Given the description of an element on the screen output the (x, y) to click on. 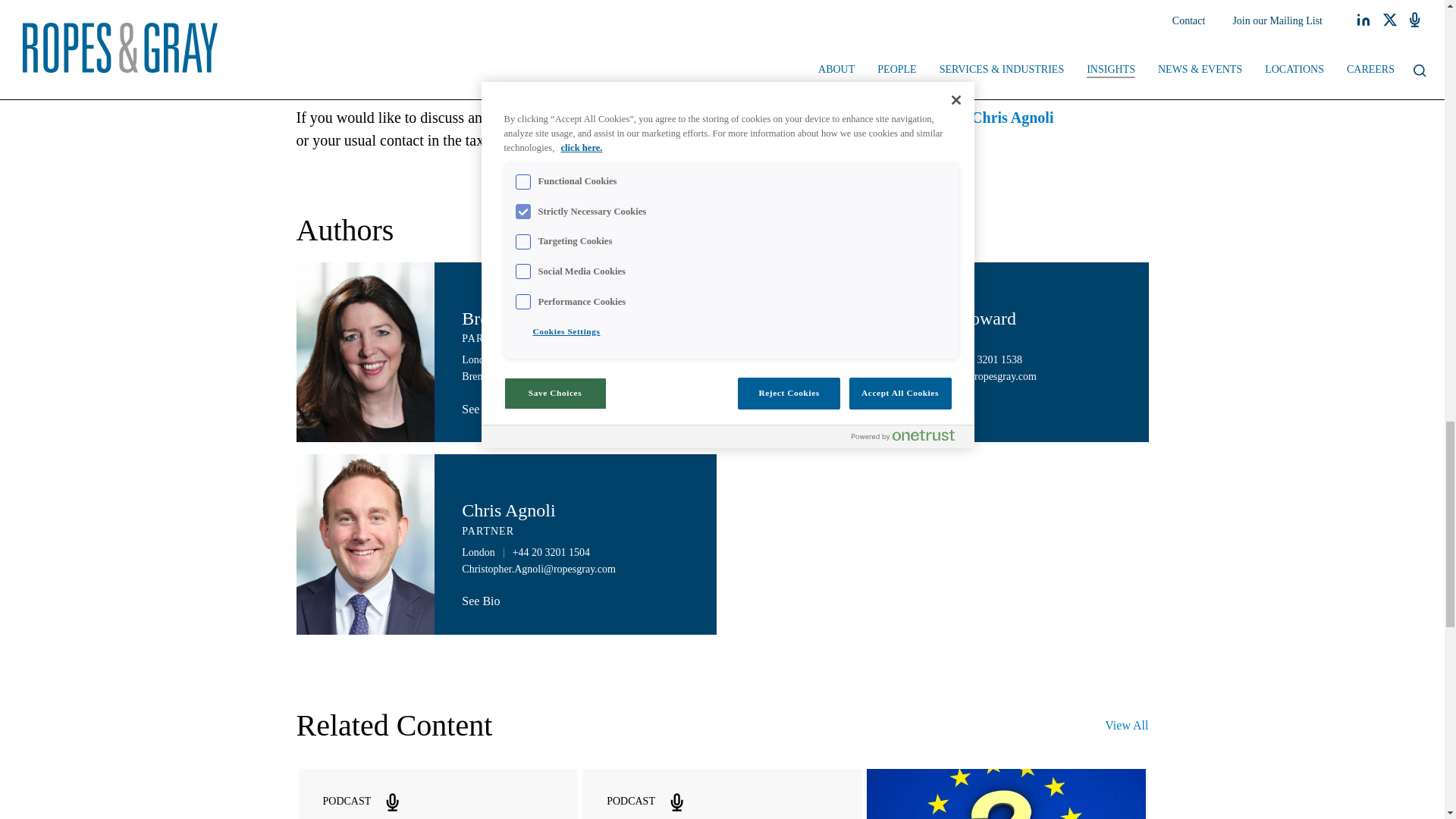
Brenda Coleman (809, 117)
Chris Agnoli (1011, 117)
Brenda A. Coleman (533, 318)
Andy Howard (916, 117)
